Given the description of an element on the screen output the (x, y) to click on. 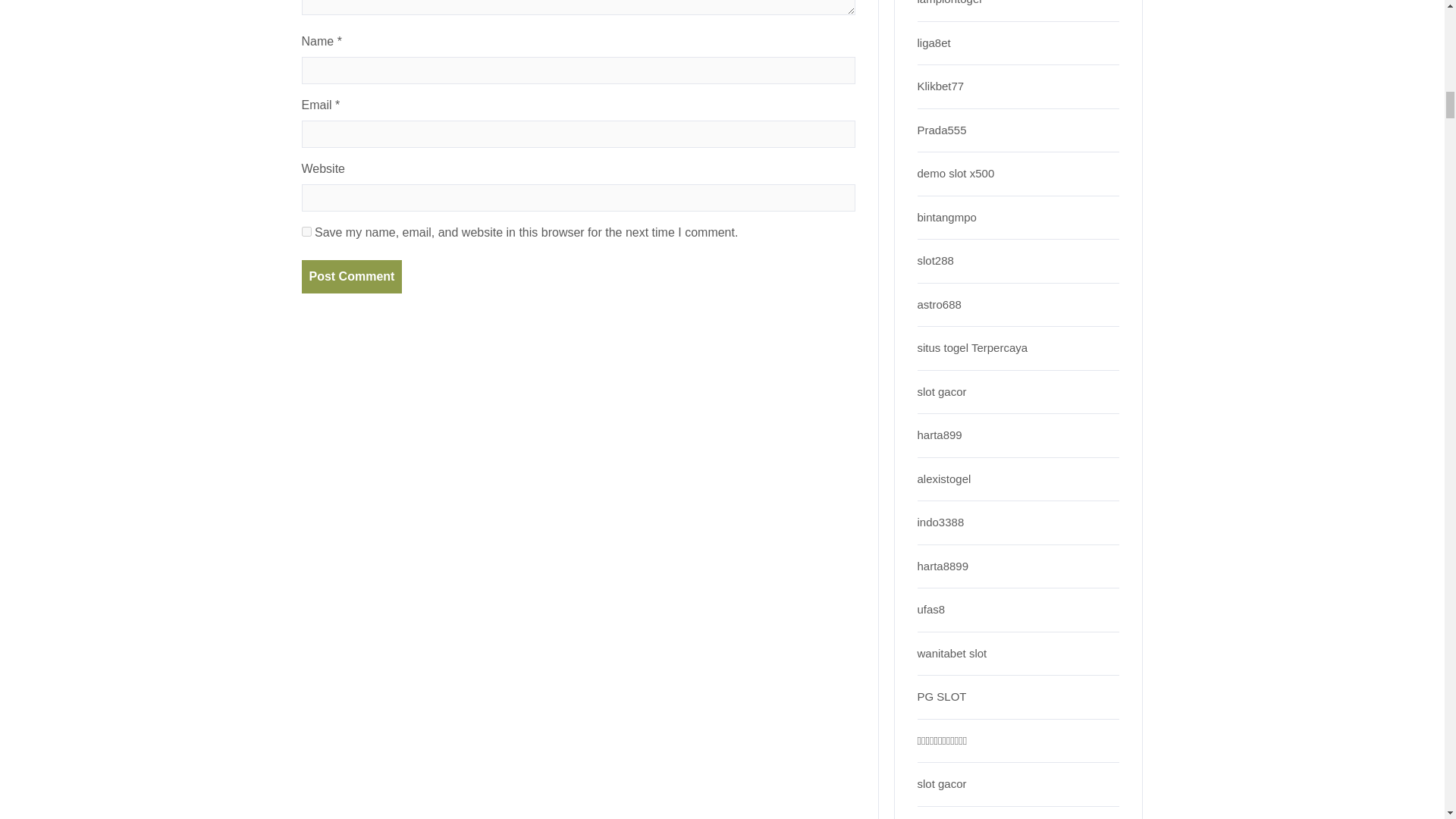
yes (306, 231)
Post Comment (352, 276)
Post Comment (352, 276)
